Given the description of an element on the screen output the (x, y) to click on. 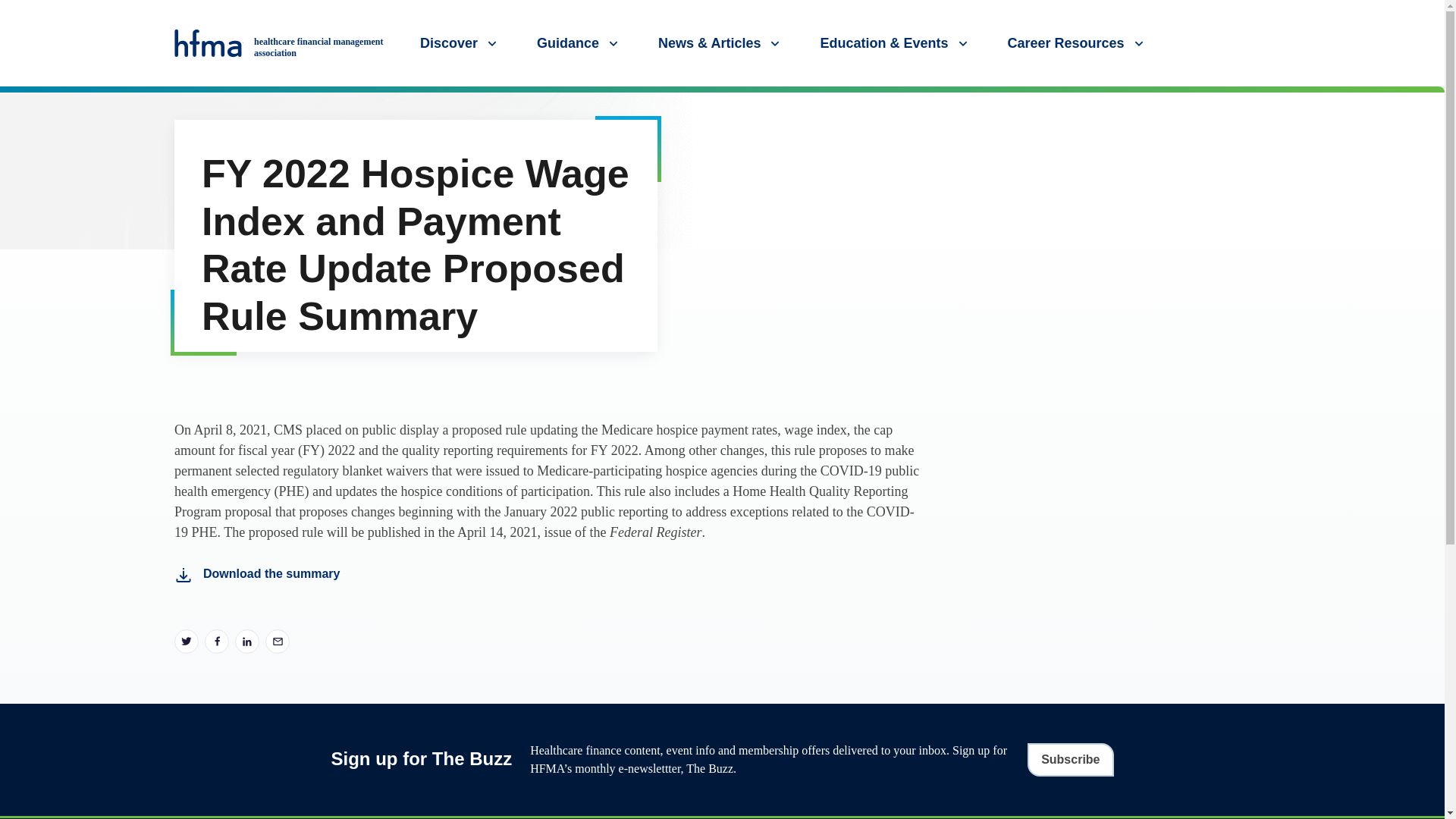
Click to email a link to a friend (276, 641)
Click to share on Facebook (216, 641)
Click to share on Twitter (186, 641)
Guidance (579, 42)
Submit (1427, 101)
Click to share on LinkedIn (246, 641)
Discover (460, 42)
Career Resources (1077, 42)
